Given the description of an element on the screen output the (x, y) to click on. 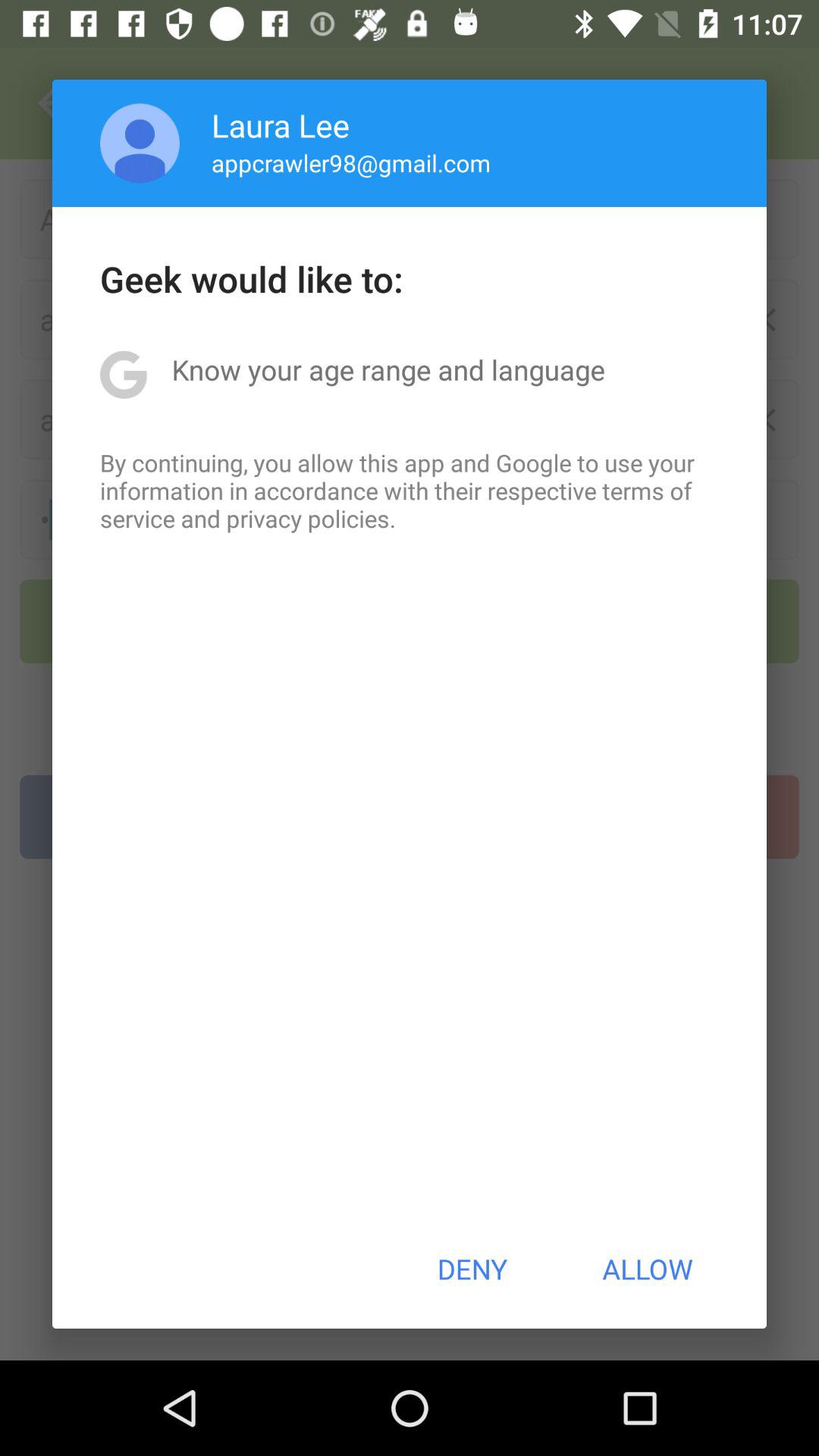
turn off icon above the by continuing you item (388, 369)
